Given the description of an element on the screen output the (x, y) to click on. 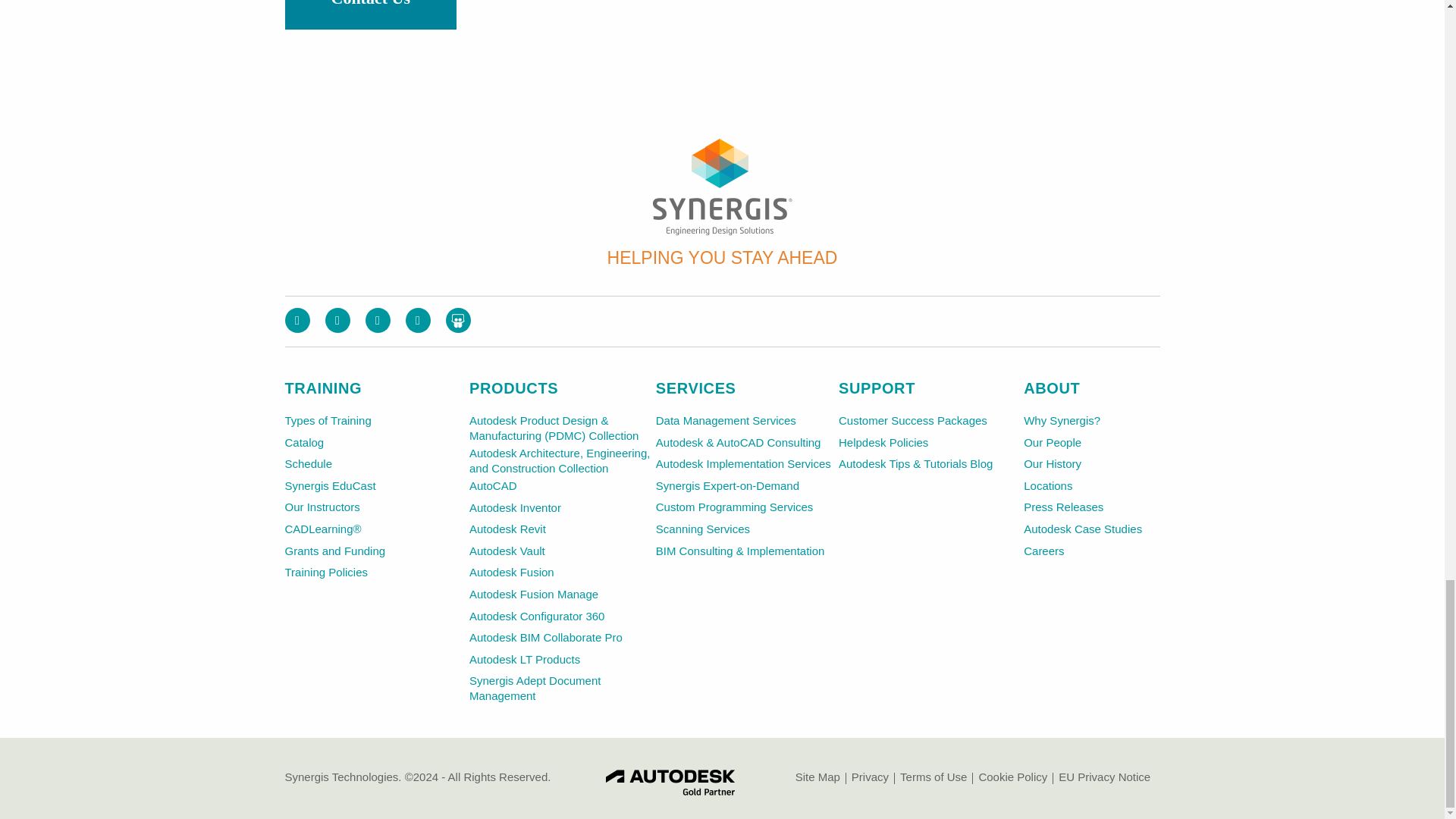
LinkedIn (377, 319)
Twitter (336, 319)
Slideshare (457, 319)
YouTube (416, 319)
Facebook (297, 319)
